Given the description of an element on the screen output the (x, y) to click on. 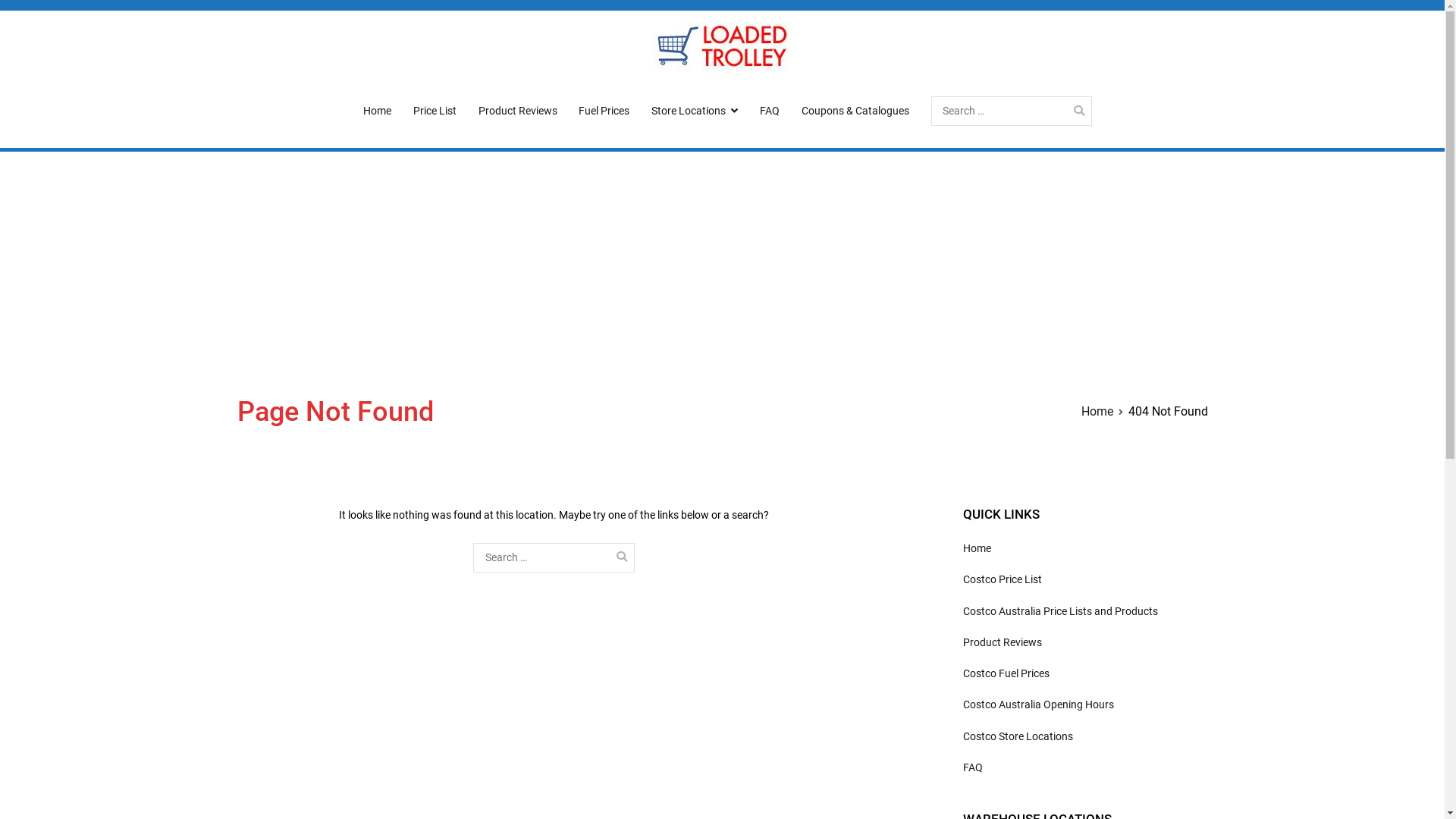
Costco Australia Price Lists and Products Element type: text (1060, 611)
Search Element type: text (27, 14)
Costco Australia Opening Hours Element type: text (1038, 705)
Costco Price List Element type: text (1002, 579)
Price List Element type: text (434, 111)
Fuel Prices Element type: text (603, 111)
Advertisement Element type: hover (721, 265)
Costco Fuel Prices Element type: text (1006, 673)
Product Reviews Element type: text (1002, 642)
Product Reviews Element type: text (517, 111)
FAQ Element type: text (972, 768)
Home Element type: text (377, 111)
Coupons & Catalogues Element type: text (855, 111)
Loaded Trolley Element type: text (768, 95)
Store Locations Element type: text (694, 111)
FAQ Element type: text (769, 111)
Costco Store Locations Element type: text (1018, 736)
Home Element type: text (977, 548)
Home Element type: text (1097, 411)
